Given the description of an element on the screen output the (x, y) to click on. 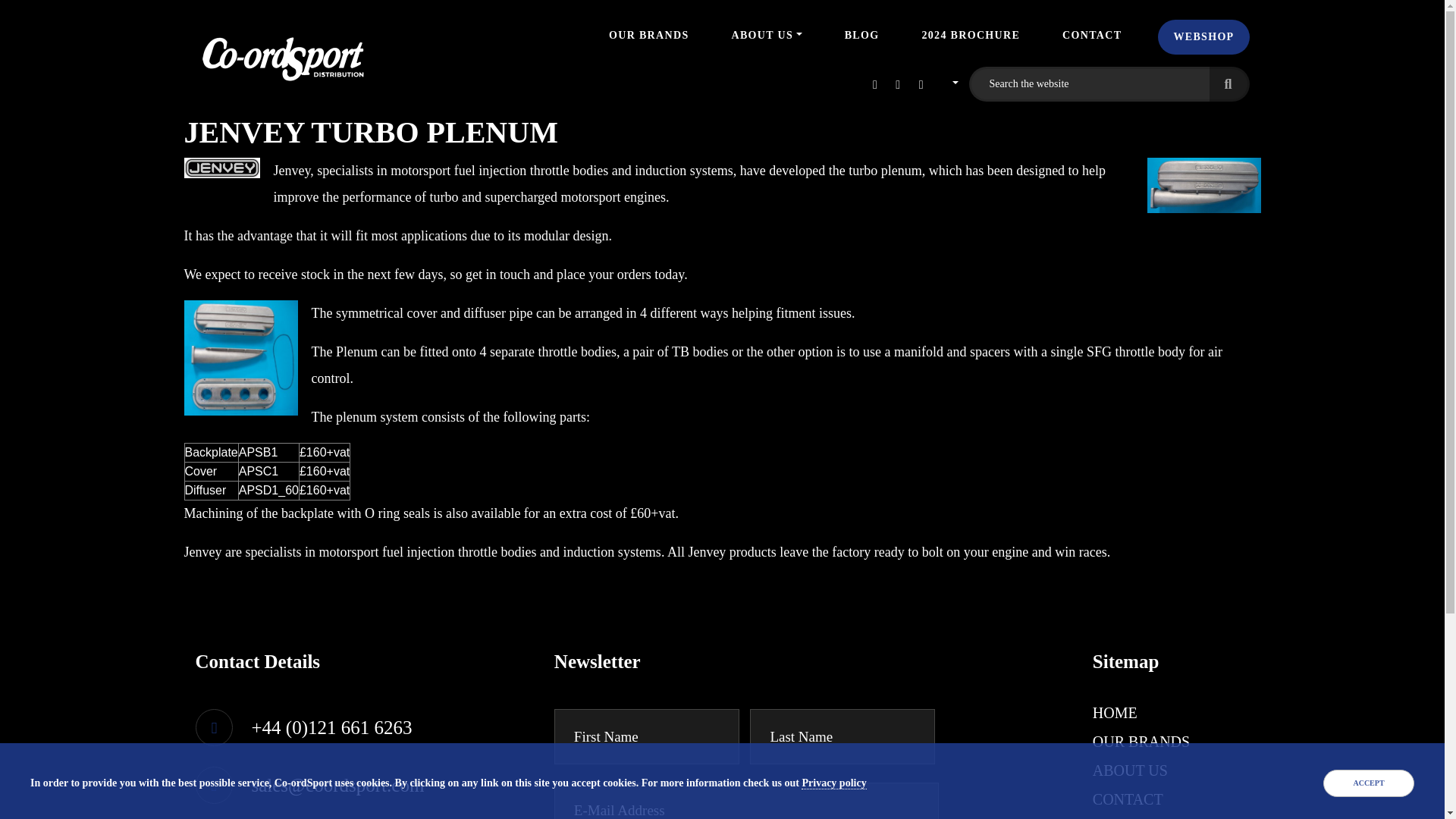
2024 Brochure (970, 35)
OUR BRANDS (1141, 741)
About Us (766, 35)
Contact (1091, 35)
2024 BROCHURE (970, 35)
Privacy policy (834, 783)
ABOUT US (766, 35)
WEBSHOP (1203, 36)
WARRANTY (1135, 817)
Our Brands (648, 35)
CONTACT (1128, 799)
BLOG (861, 35)
ABOUT US (1130, 770)
CONTACT (1091, 35)
HOME (1115, 712)
